Given the description of an element on the screen output the (x, y) to click on. 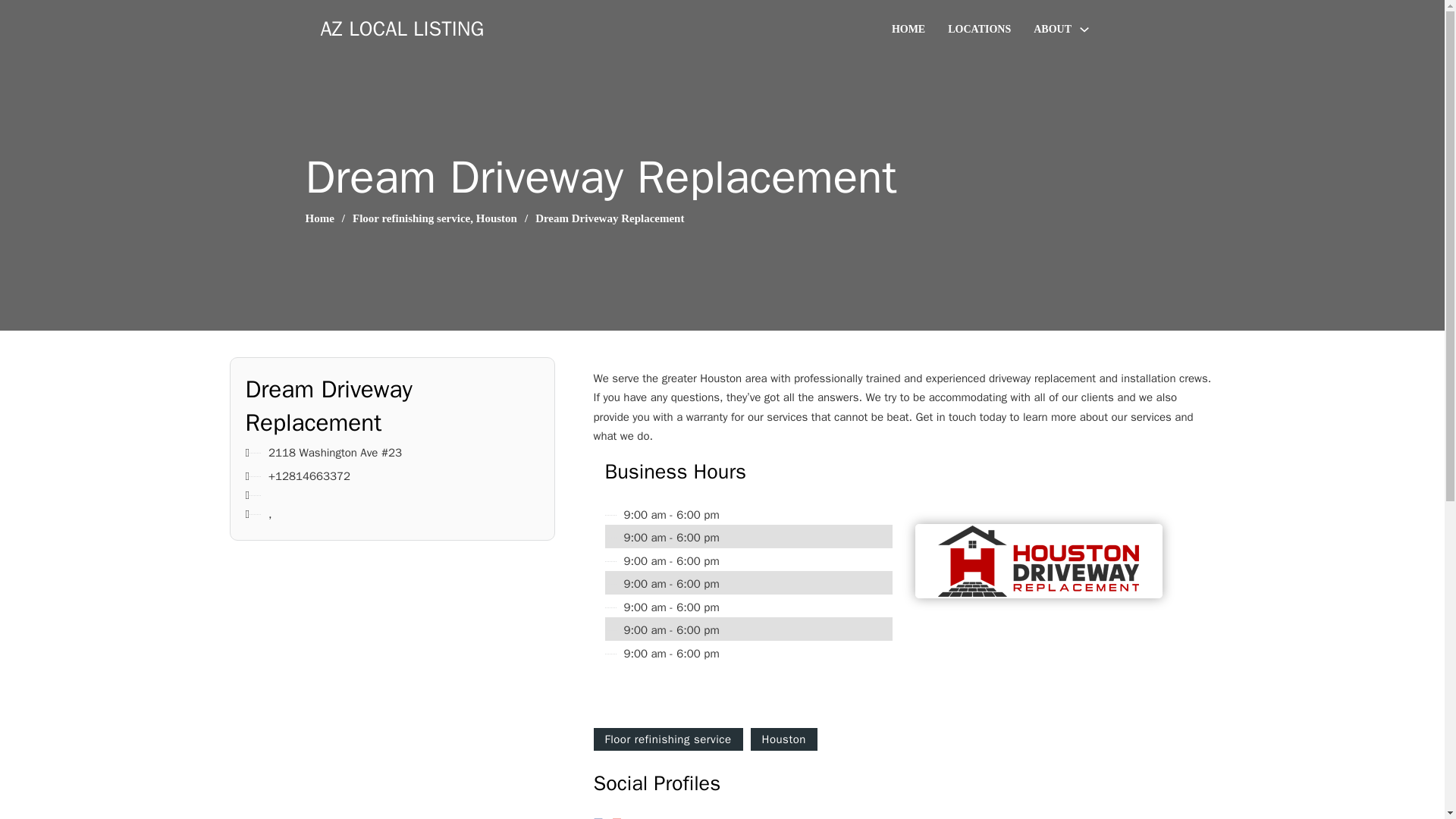
Houston (783, 739)
Floor refinishing service (411, 218)
HOME (907, 29)
Houston (496, 218)
AZ LOCAL LISTING (401, 28)
Floor refinishing service (667, 739)
Home (318, 218)
LOCATIONS (978, 29)
